Given the description of an element on the screen output the (x, y) to click on. 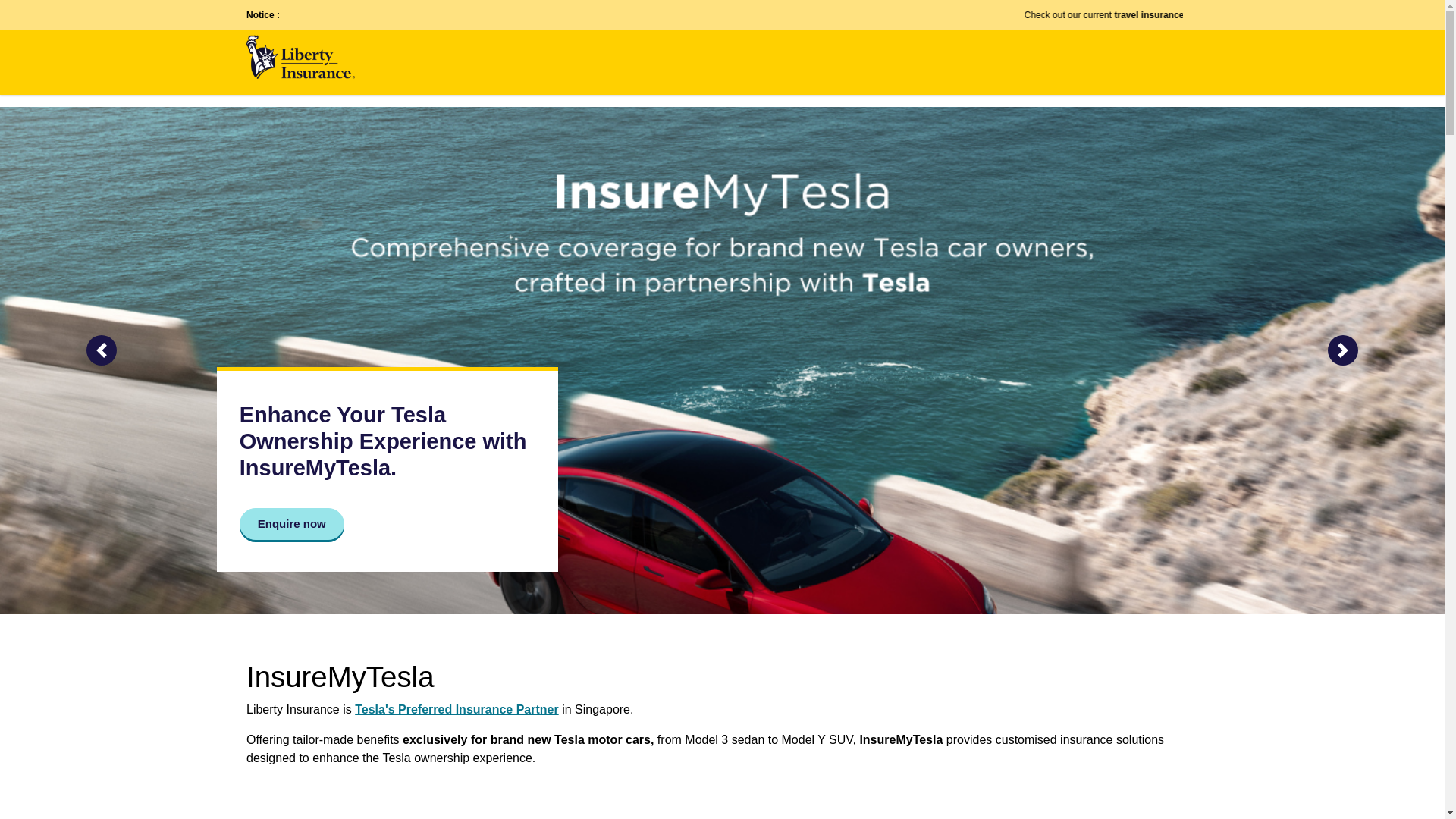
Enquire now (291, 523)
Previous (100, 349)
Next (1342, 349)
Tesla's Preferred Insurance Partner (457, 708)
Home (300, 55)
